Given the description of an element on the screen output the (x, y) to click on. 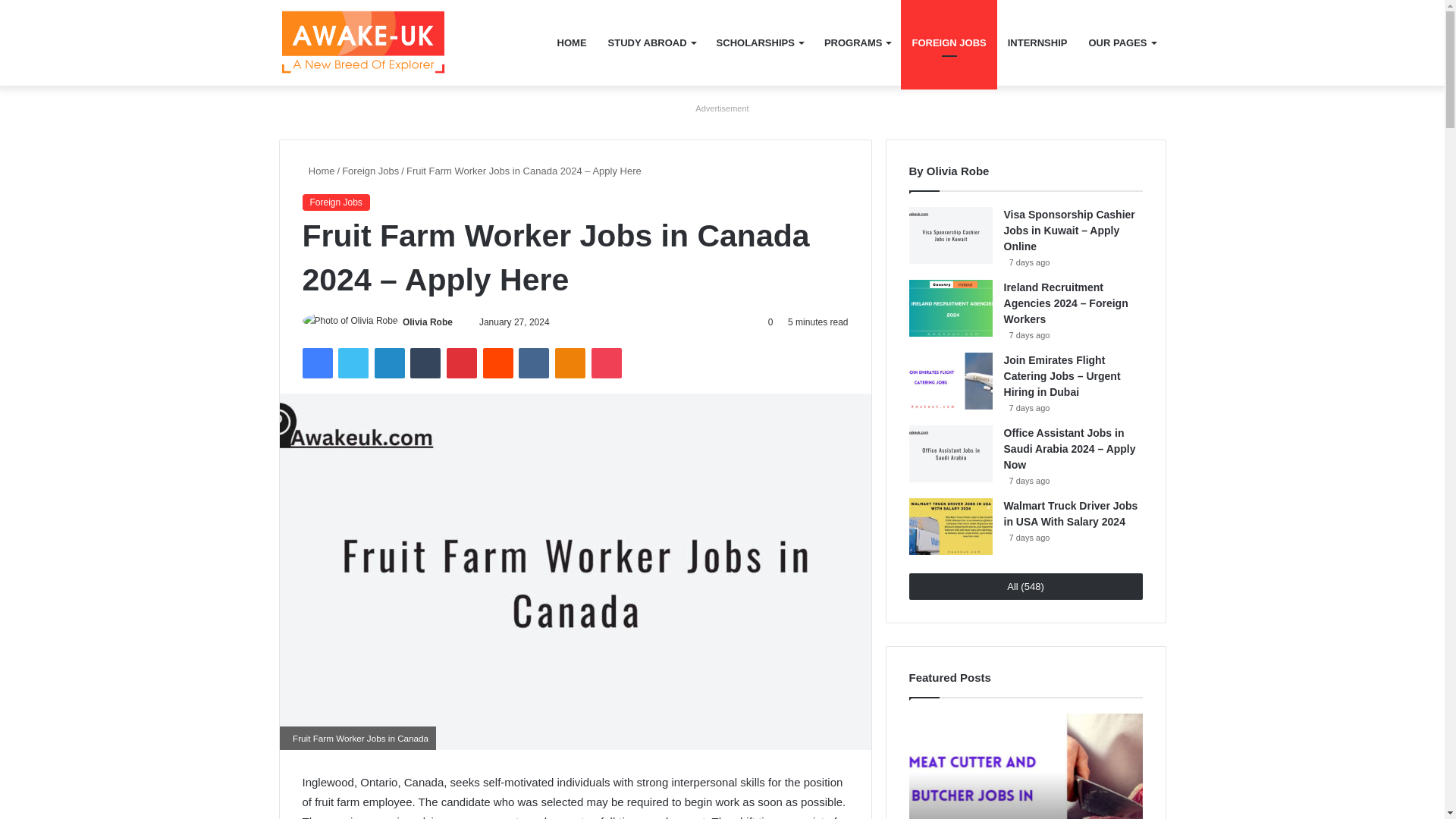
Olivia Robe (427, 321)
STUDY ABROAD (651, 42)
Pinterest (461, 363)
SCHOLARSHIPS (759, 42)
Tumblr (425, 363)
Tumblr (425, 363)
Foreign Jobs (370, 170)
VKontakte (533, 363)
OUR PAGES (1121, 42)
Twitter (352, 363)
